Given the description of an element on the screen output the (x, y) to click on. 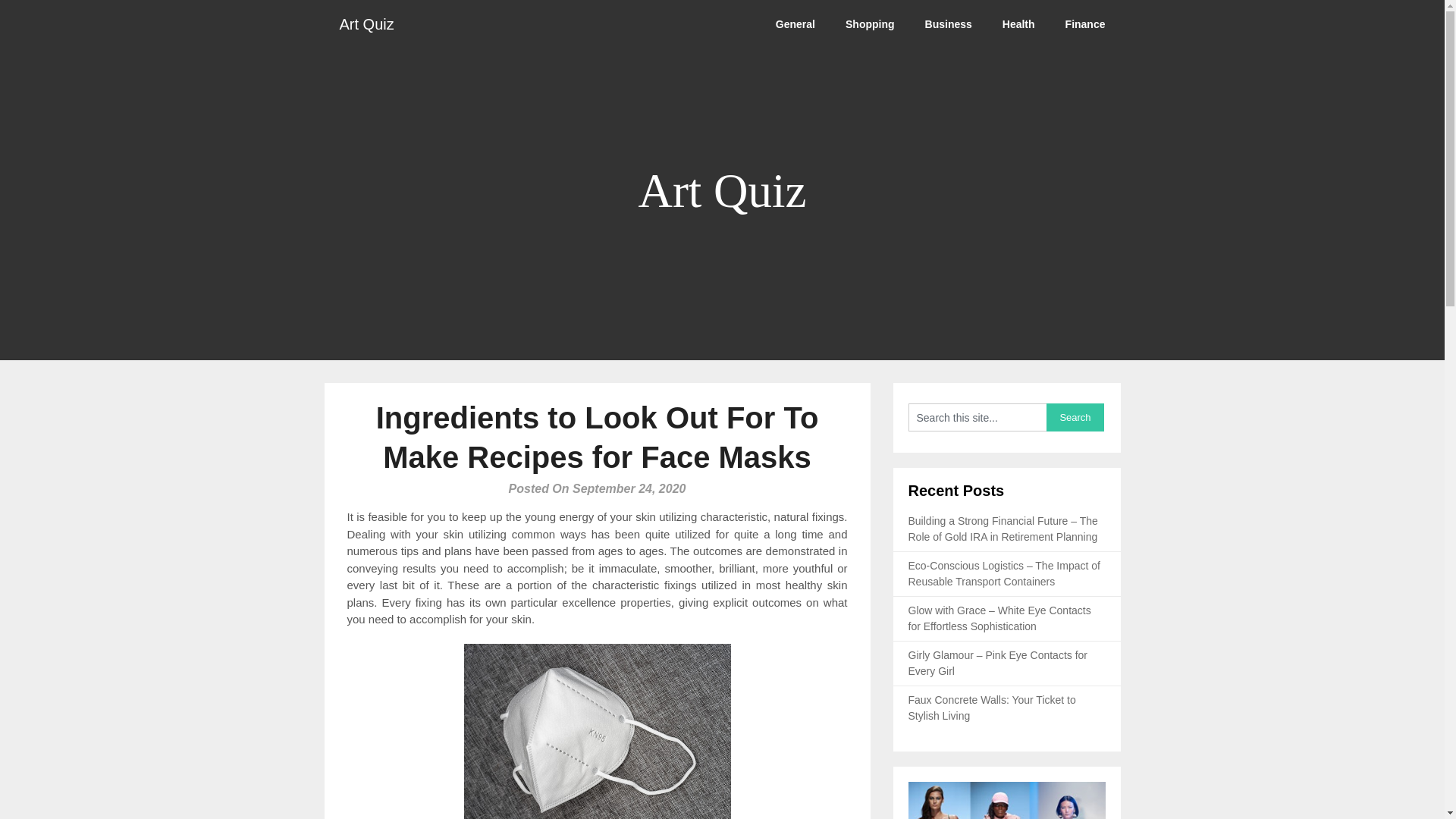
Art Quiz (366, 24)
General (794, 24)
Faux Concrete Walls: Your Ticket to Stylish Living (991, 707)
Shopping (869, 24)
Search (1075, 417)
Search (1075, 417)
Search this site... (977, 417)
Finance (1085, 24)
Business (948, 24)
Health (1018, 24)
